Given the description of an element on the screen output the (x, y) to click on. 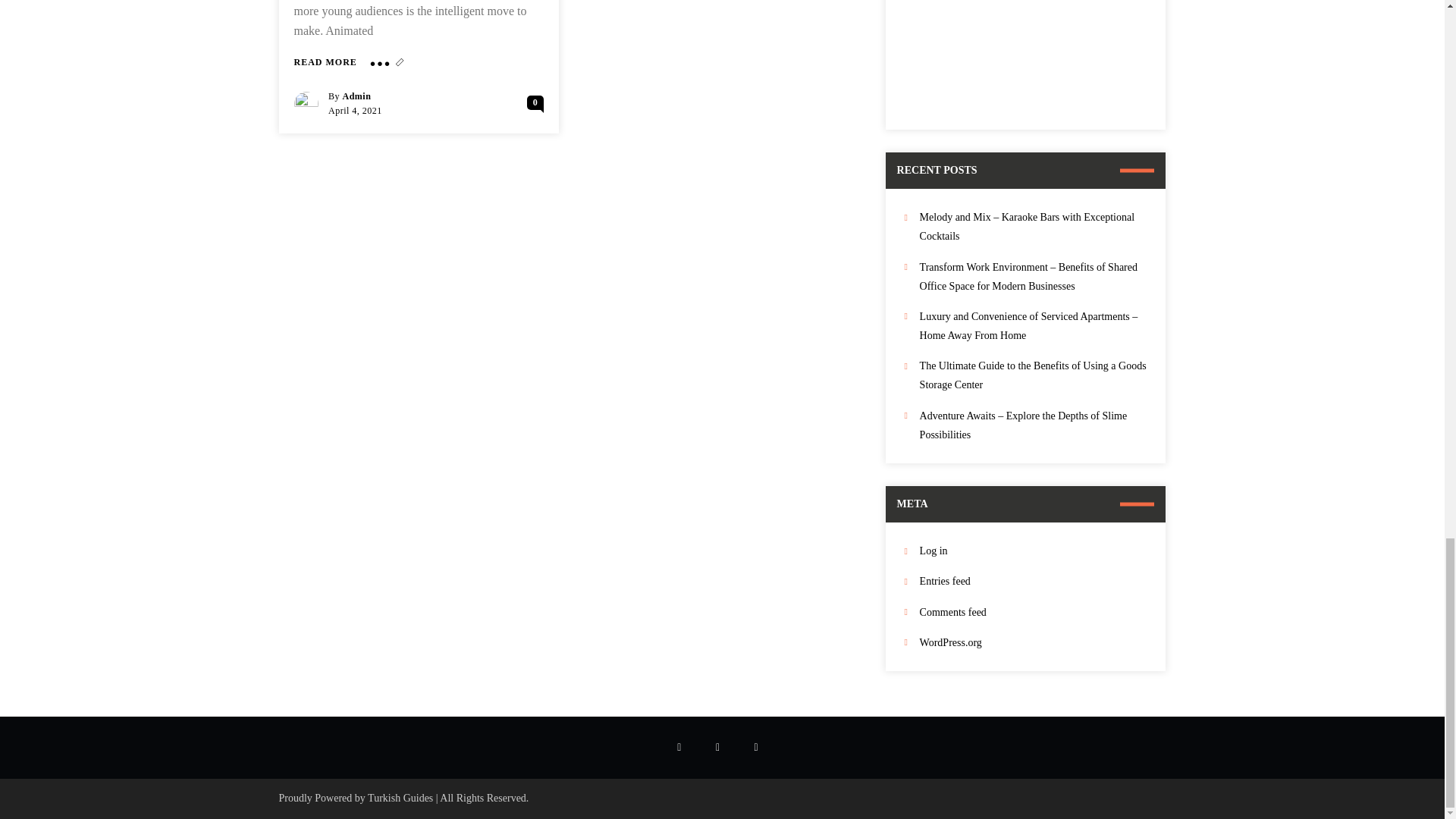
April 4, 2021 (355, 110)
Admin (356, 95)
0 (535, 101)
